Given the description of an element on the screen output the (x, y) to click on. 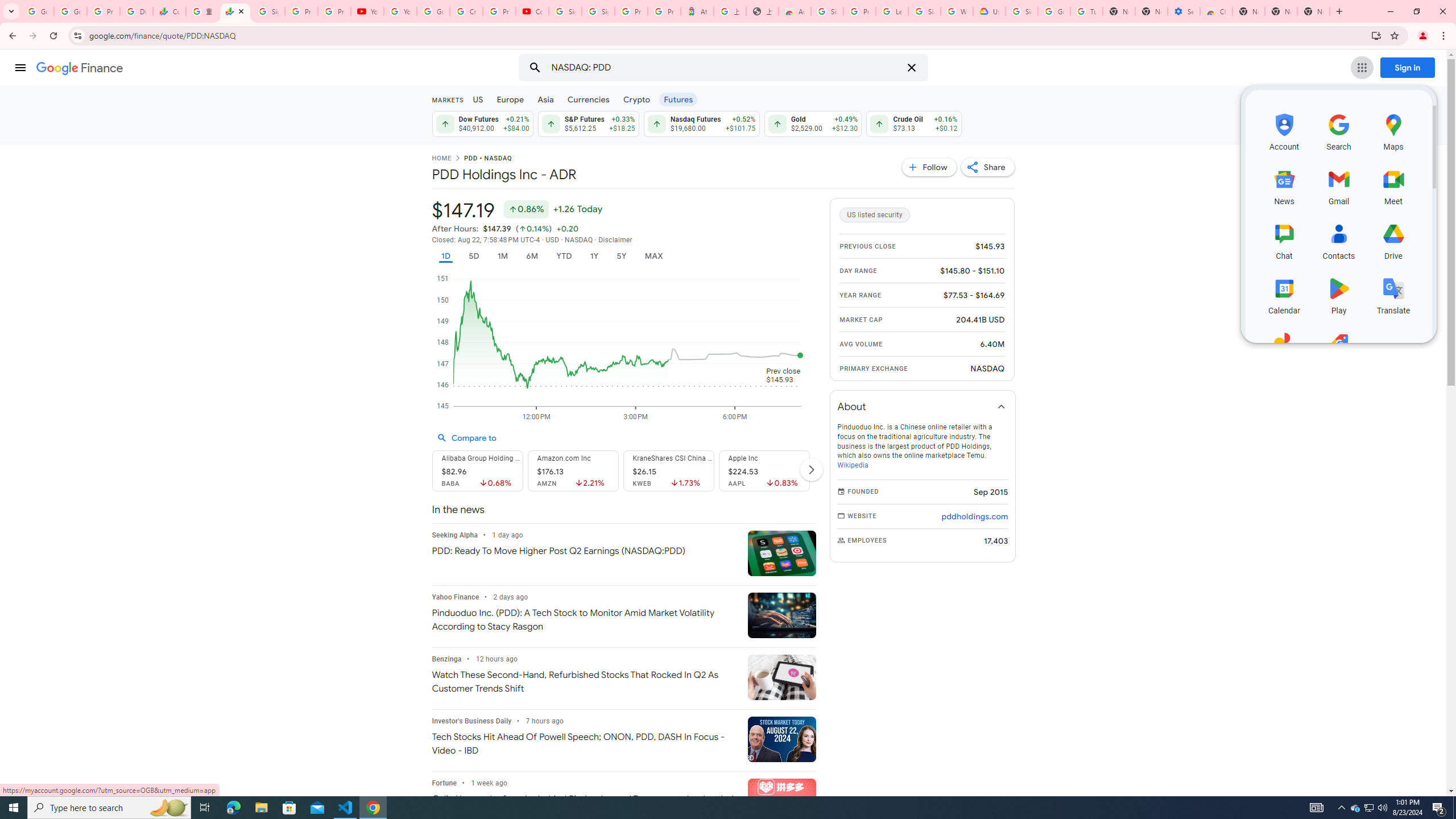
Sign in - Google Accounts (1021, 11)
New Tab (1313, 11)
1M (501, 255)
